Given the description of an element on the screen output the (x, y) to click on. 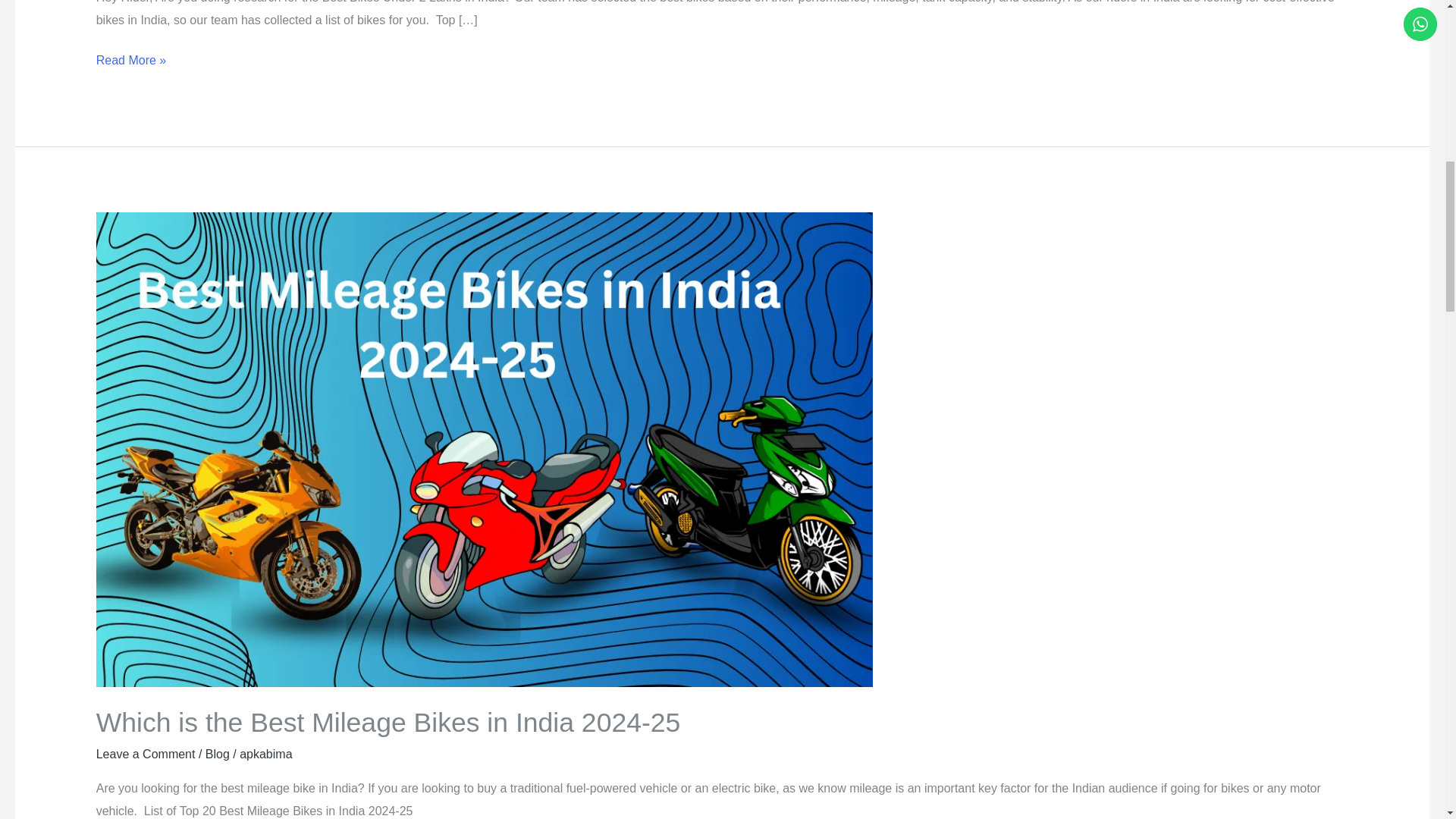
Leave a Comment (145, 753)
Which is the Best Mileage Bikes in India 2024-25 (388, 722)
Blog (217, 753)
apkabima (266, 753)
View all posts by apkabima (266, 753)
